Given the description of an element on the screen output the (x, y) to click on. 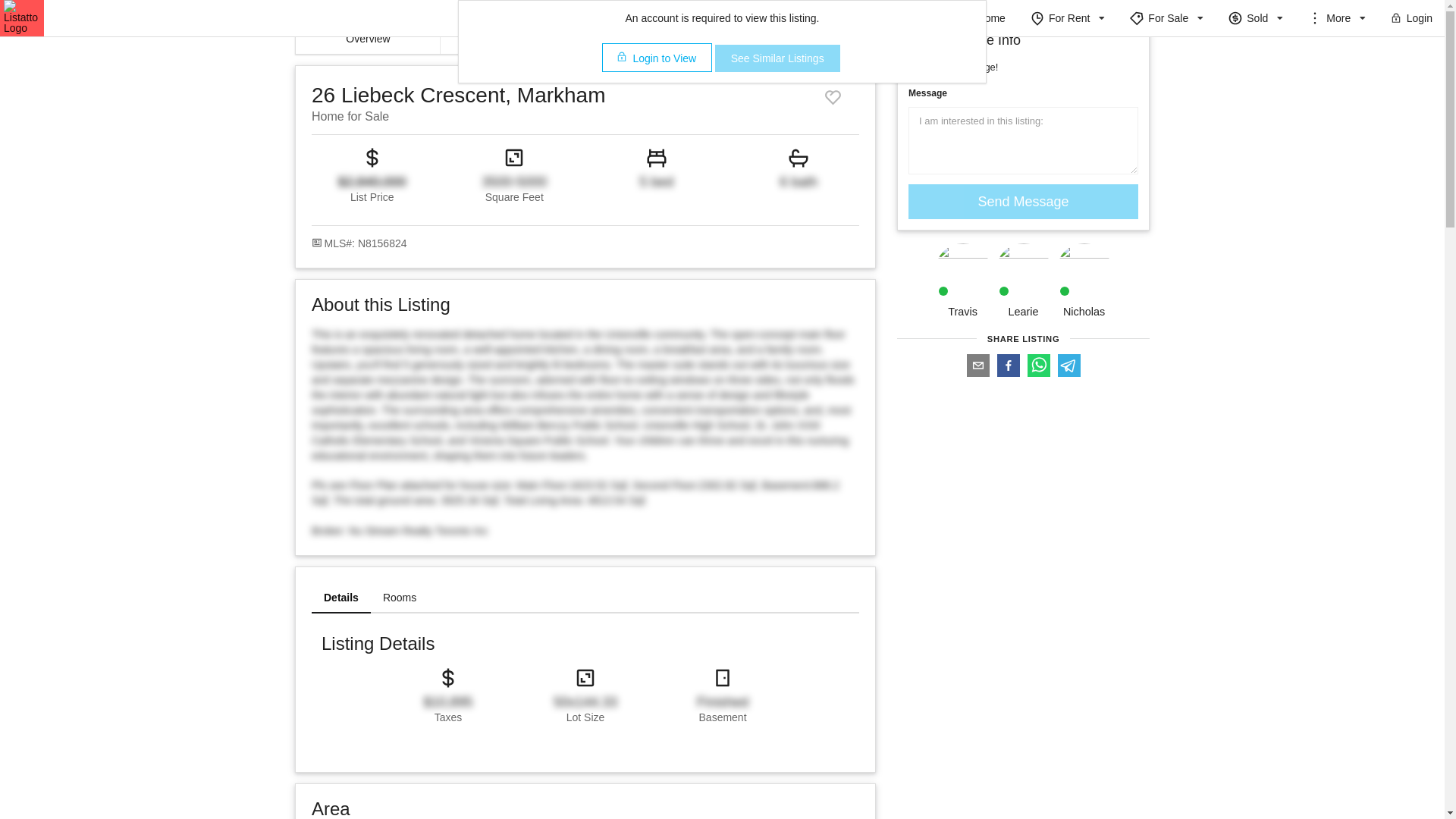
Details (341, 598)
Rooms (399, 598)
Home (991, 18)
Overview (368, 38)
Map (657, 38)
See Similar Listings (777, 58)
Details (513, 38)
Similar (802, 38)
Login to View (656, 57)
Login (1410, 18)
